Given the description of an element on the screen output the (x, y) to click on. 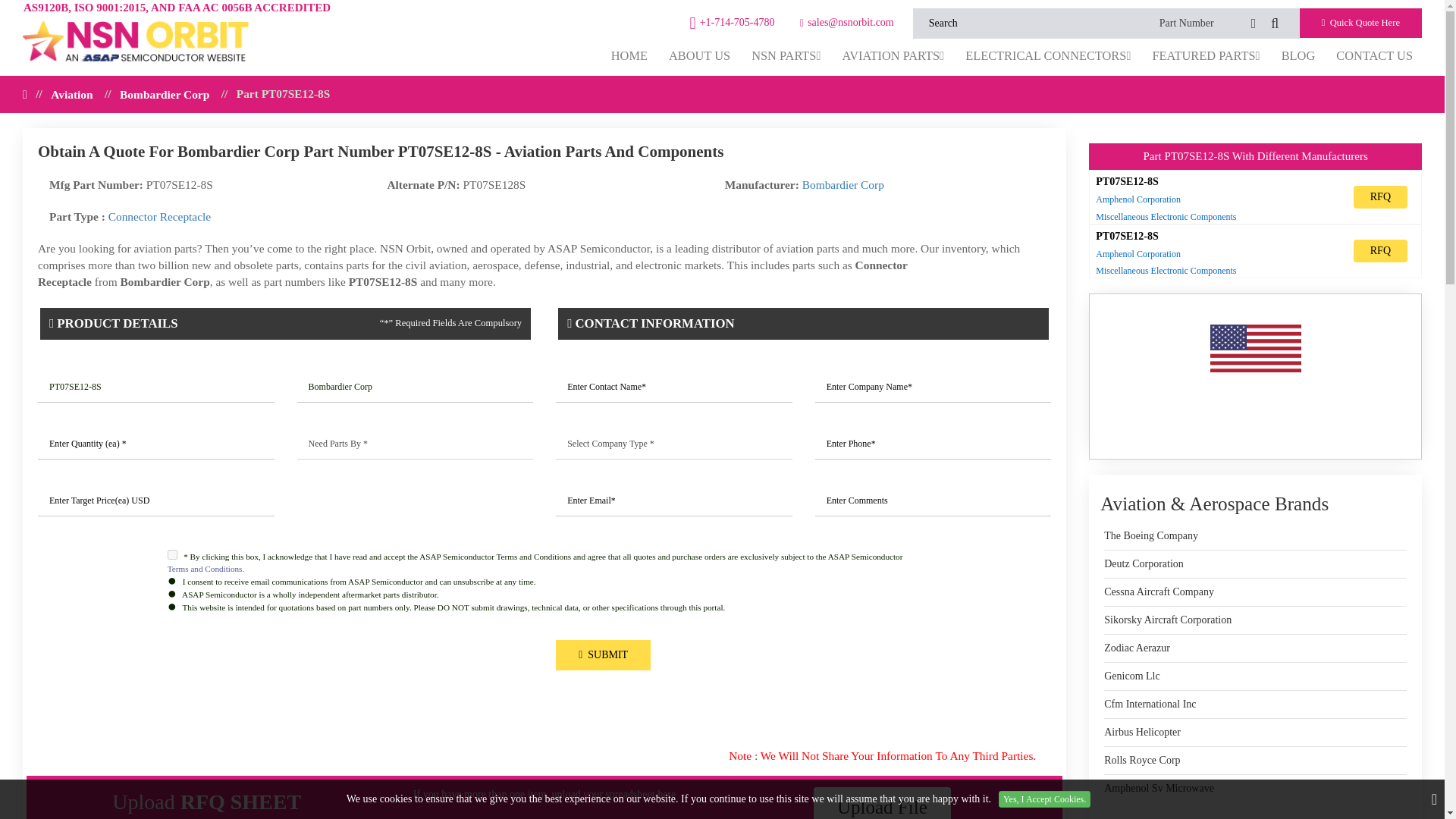
Deutz Corporation (1143, 563)
Cfm International Inc (1149, 703)
Bombardier Corp (415, 387)
Sikorsky Aircraft Corporation (1167, 620)
PT07SE12-8S (156, 387)
The Boeing Company (1150, 535)
Cessna Aircraft Company (1158, 591)
ELECTRICAL CONNECTORS (1048, 55)
Airbus Helicopter (1141, 732)
NSN PARTS (785, 55)
Amphenol Sv Microwave (1158, 788)
HOME (629, 55)
  Quick Quote Here (1361, 22)
Zodiac Aerazur (1136, 648)
AVIATION PARTS (892, 55)
